Given the description of an element on the screen output the (x, y) to click on. 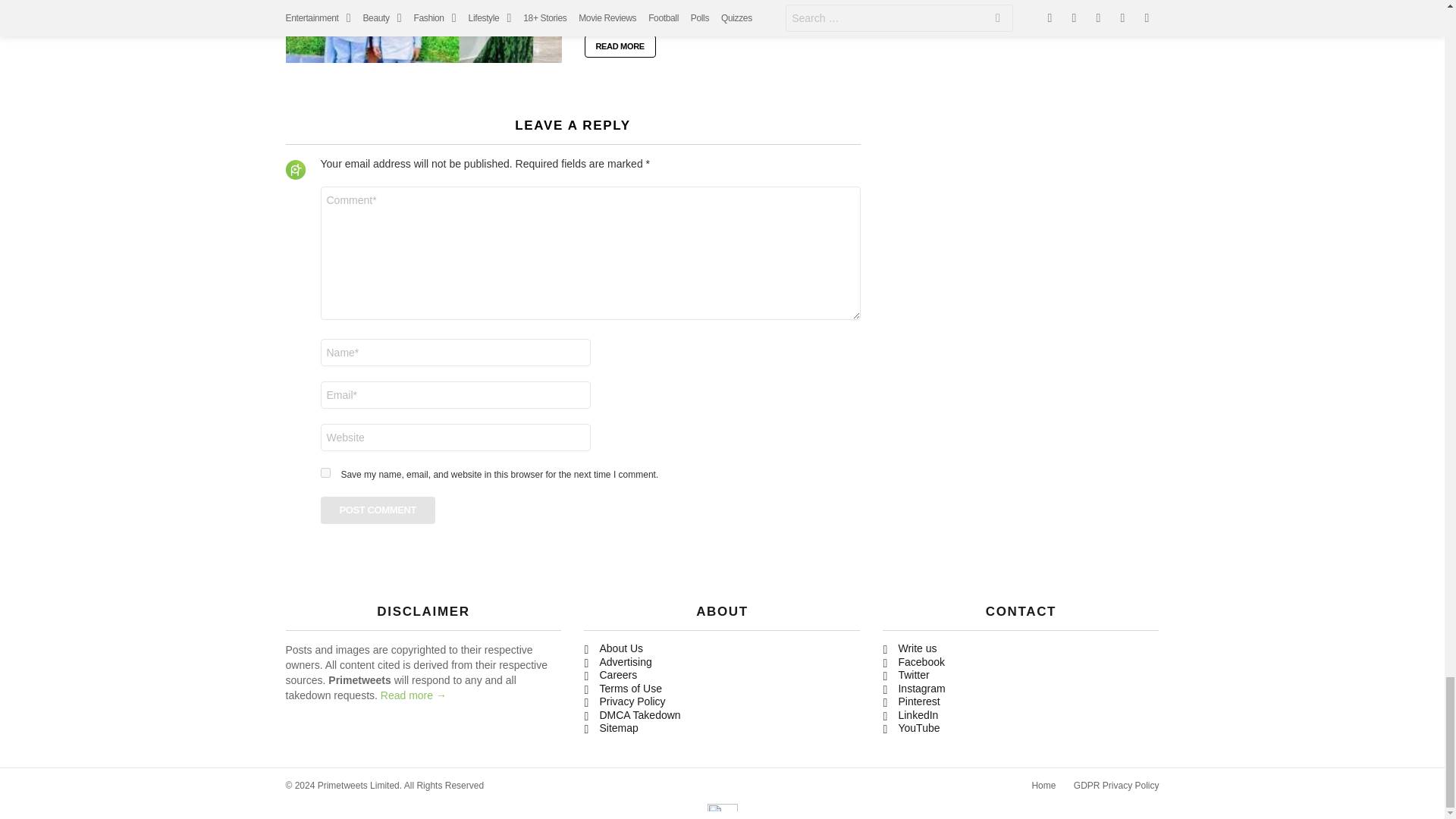
Post Comment (377, 510)
yes (325, 472)
